Given the description of an element on the screen output the (x, y) to click on. 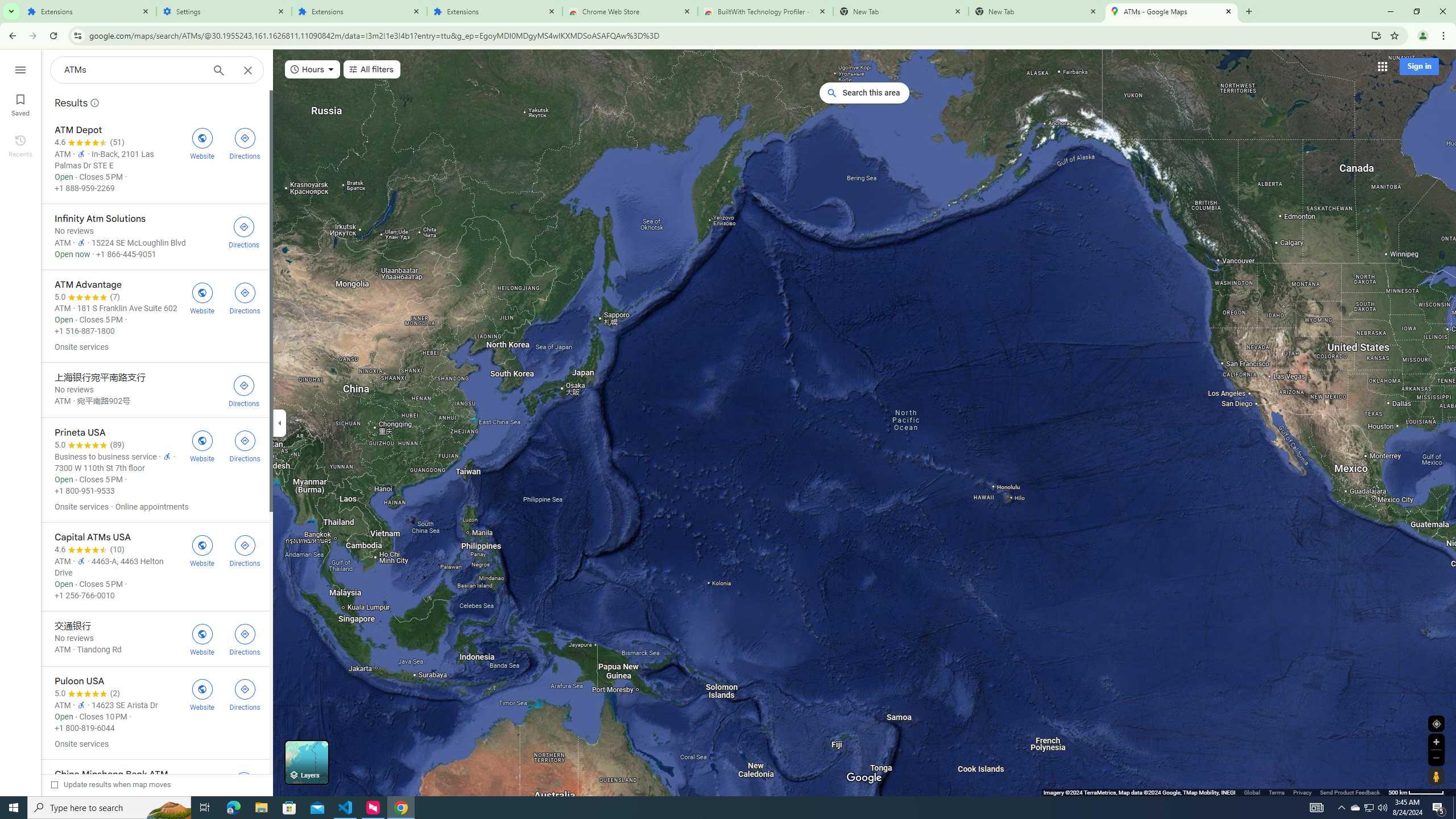
Prineta USA (154, 469)
Install Google Maps (1376, 35)
Settings (224, 11)
Show Street View coverage (1436, 776)
Visit Prineta USA's website (202, 445)
5.0 stars 2 Reviews (87, 693)
ATMs - Google Maps (1171, 11)
Visit Puloon USA's website (202, 693)
China Minsheng Bank ATM (154, 787)
